Given the description of an element on the screen output the (x, y) to click on. 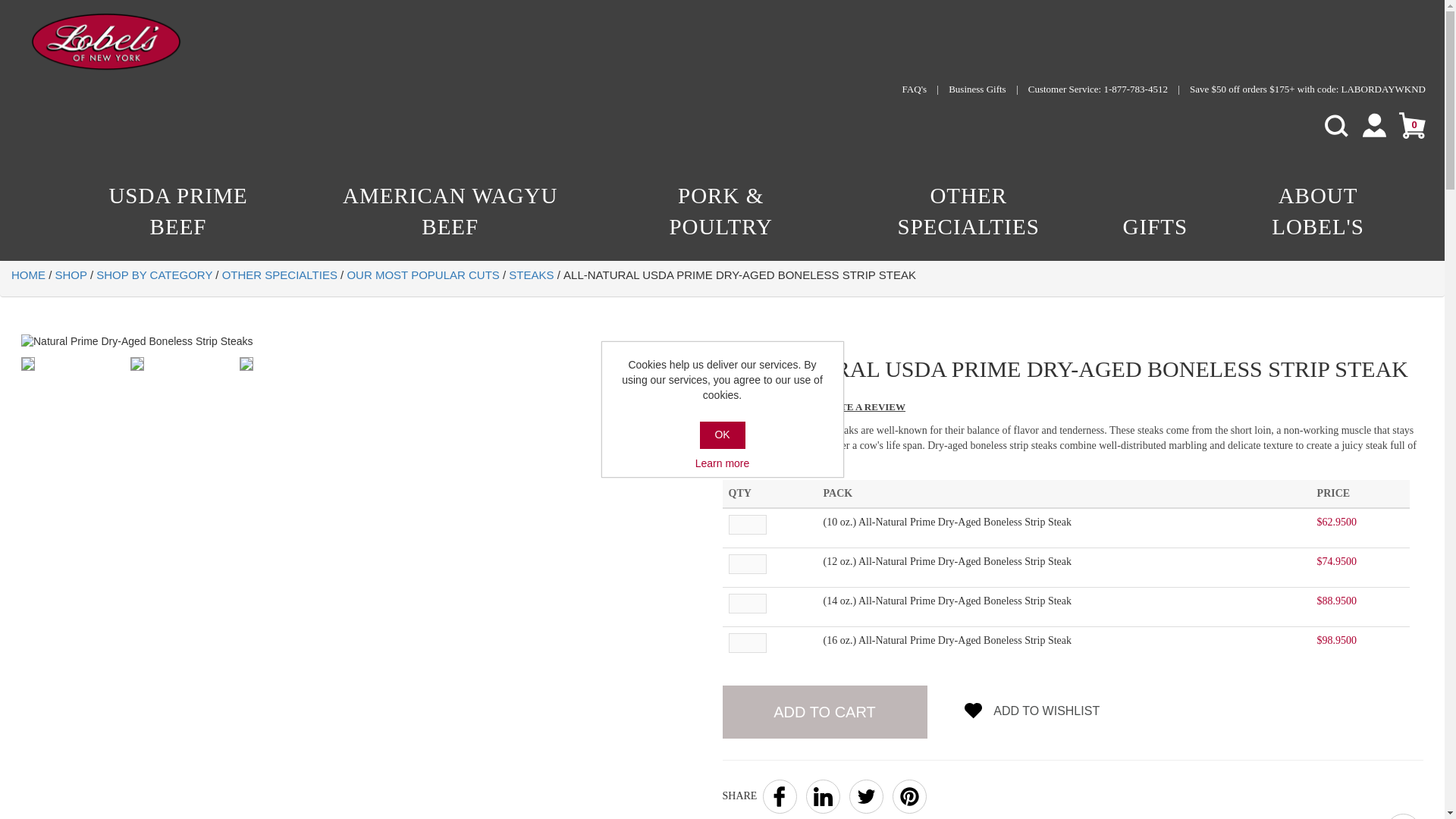
Lobel's (105, 40)
Customer Service: 1-877-783-4512 (1098, 89)
Add to cart (824, 711)
USDA PRIME BEEF (177, 214)
Business Gifts (979, 89)
FAQ's (916, 89)
